Given the description of an element on the screen output the (x, y) to click on. 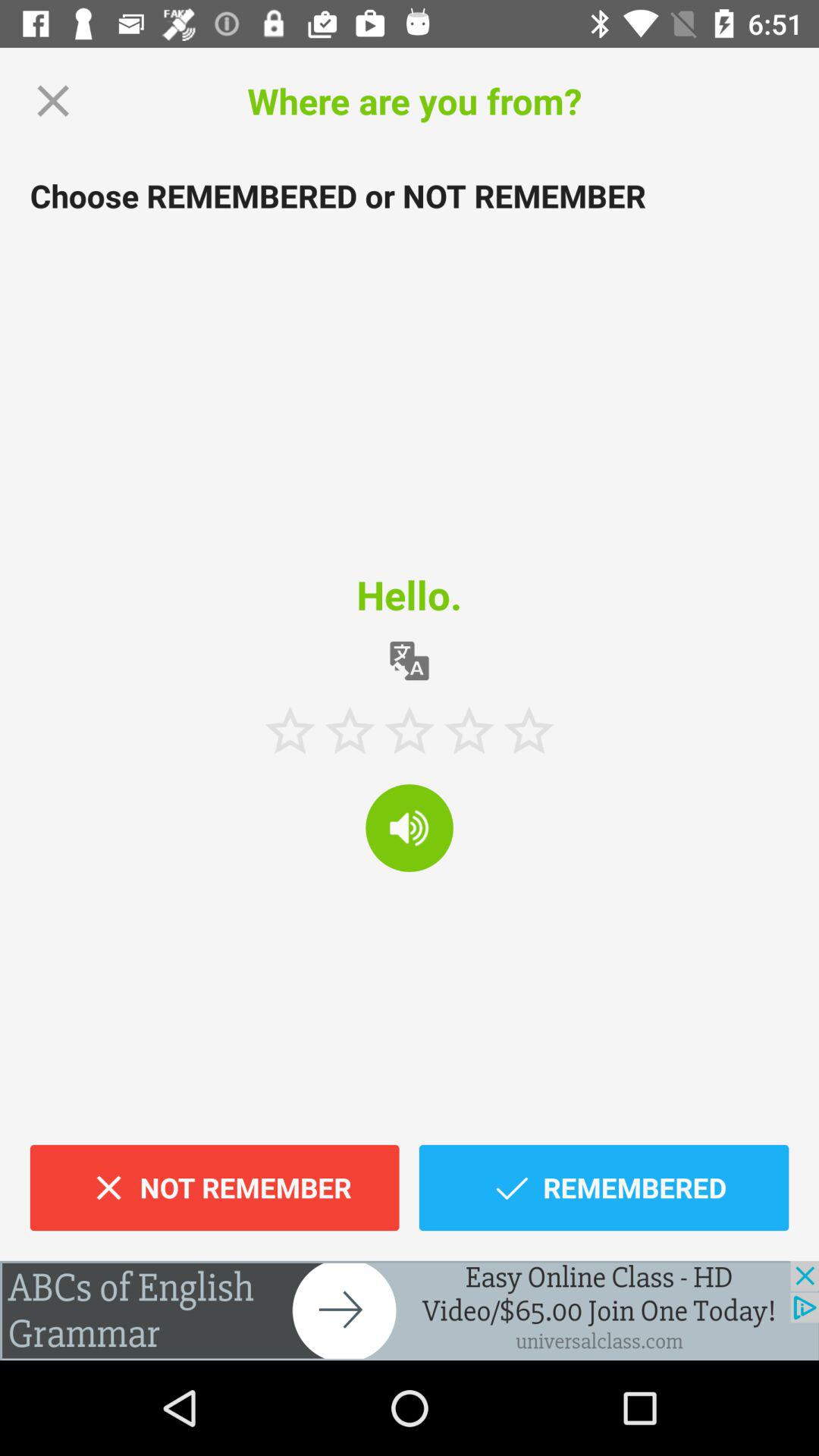
go to advertisement (409, 1310)
